Given the description of an element on the screen output the (x, y) to click on. 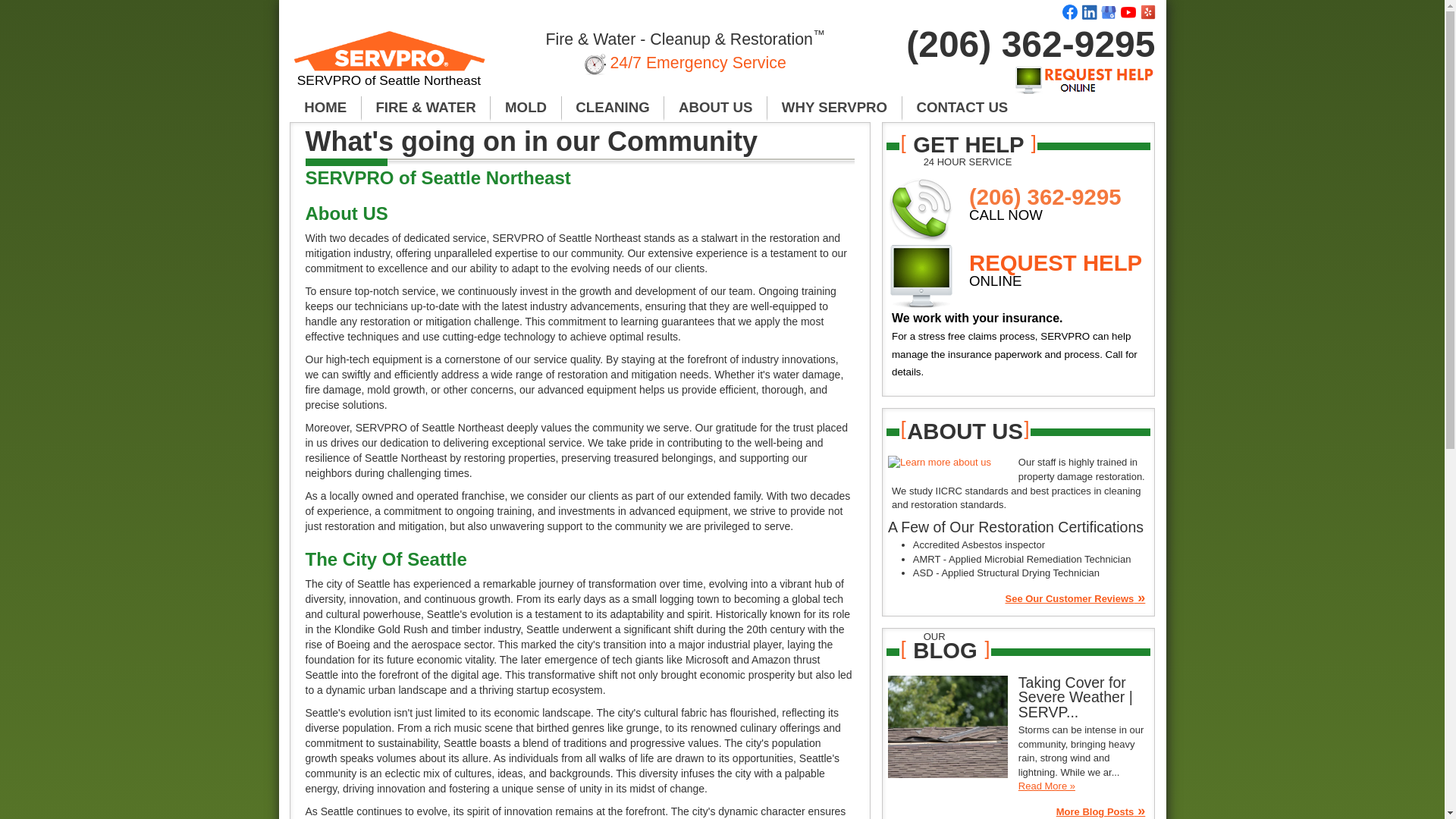
HOME (325, 108)
SERVPRO of Seattle Northeast (389, 65)
MOLD (525, 108)
ABOUT US (715, 108)
CLEANING (613, 108)
